Given the description of an element on the screen output the (x, y) to click on. 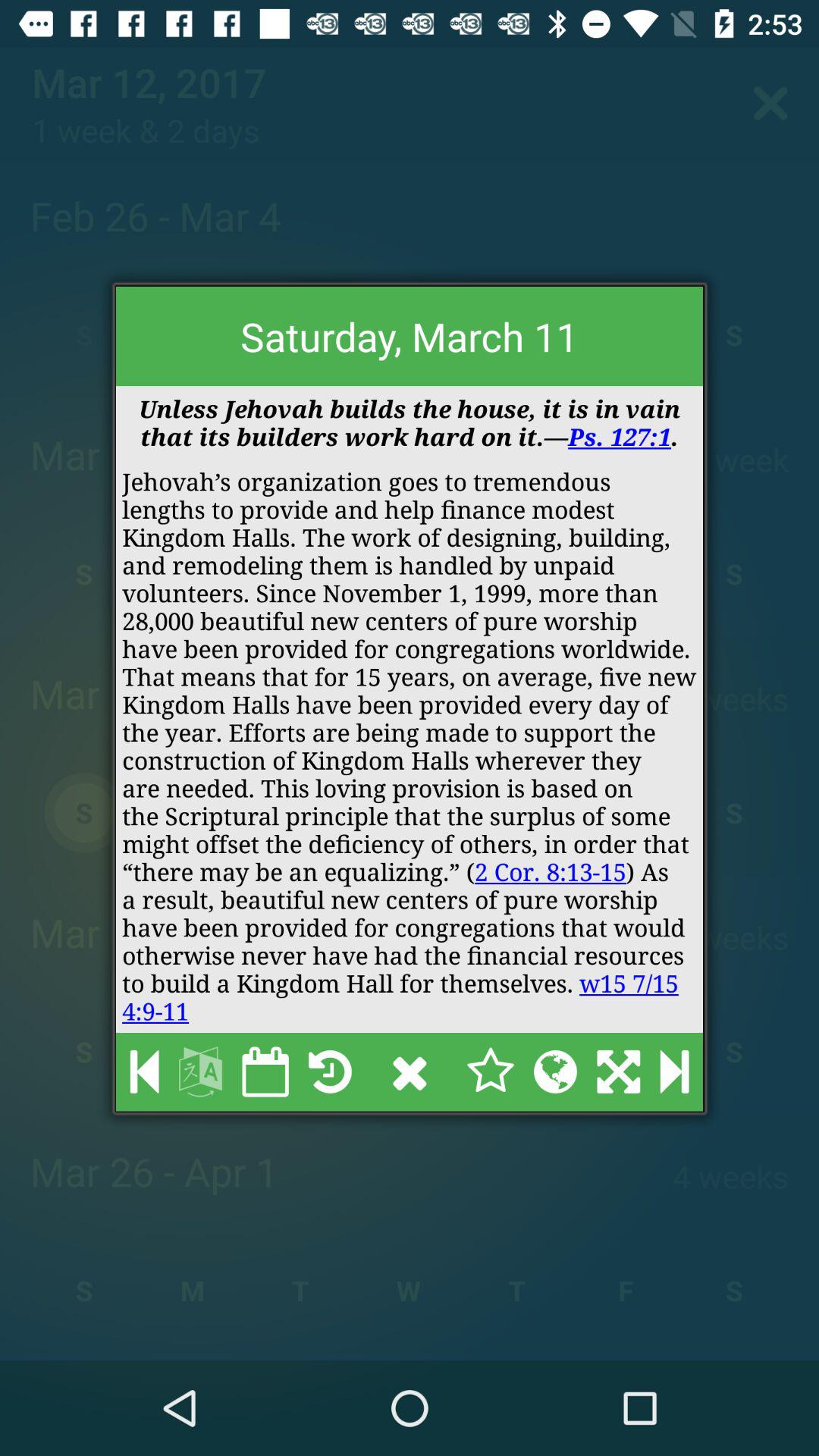
flip until the jehovah s organization (409, 745)
